Given the description of an element on the screen output the (x, y) to click on. 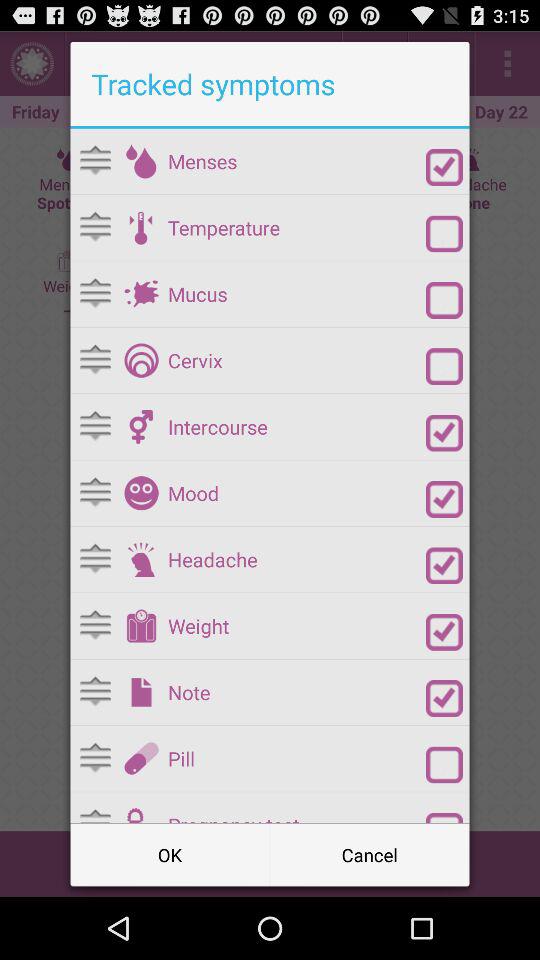
selection option (444, 300)
